Given the description of an element on the screen output the (x, y) to click on. 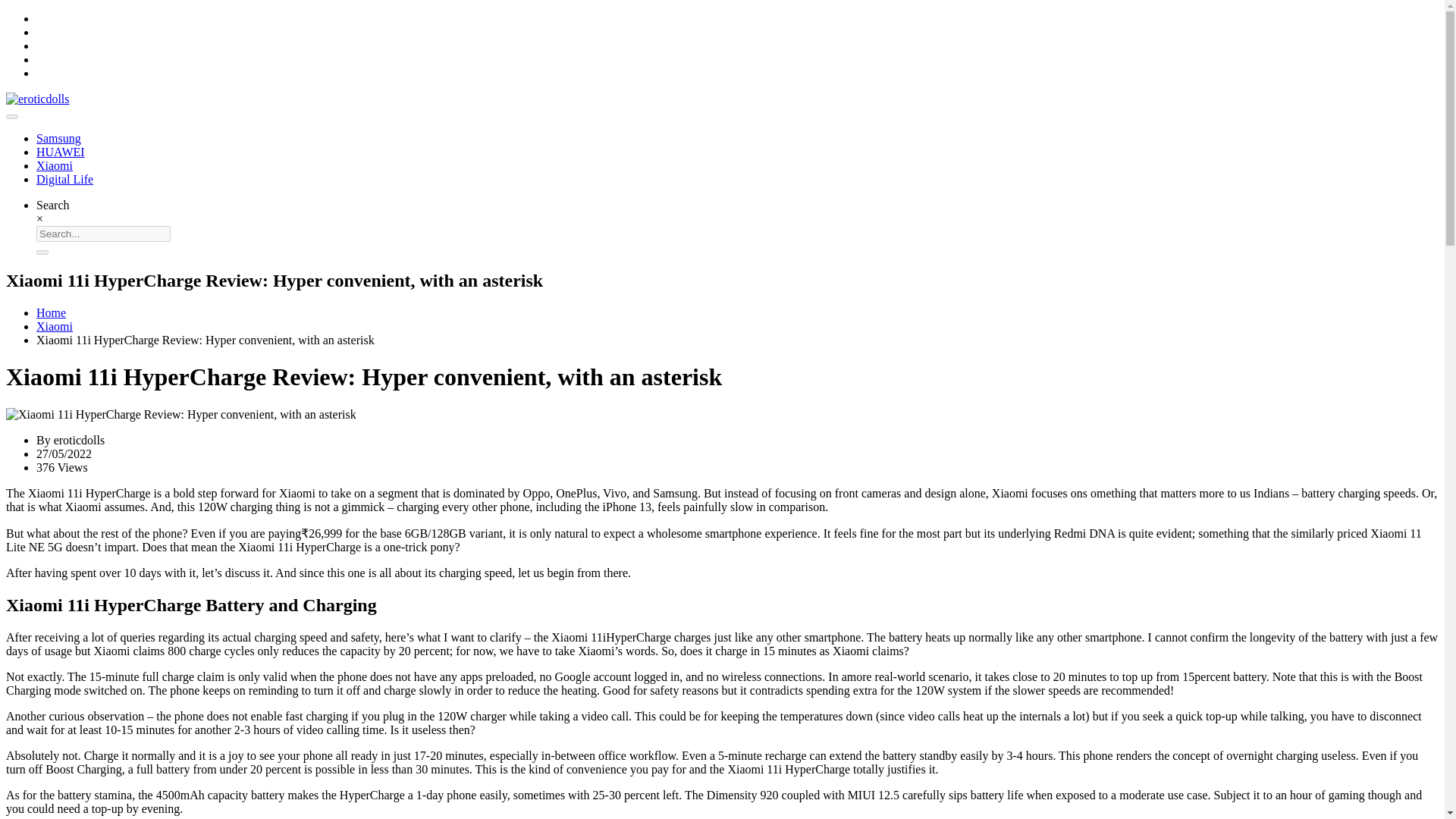
eroticdolls (37, 99)
HUAWEI (60, 151)
Digital Life (64, 178)
Samsung (58, 137)
376 Views (61, 467)
By eroticdolls (70, 440)
Samsung (58, 137)
HUAWEI (60, 151)
Digital Life (64, 178)
Home (50, 312)
